Given the description of an element on the screen output the (x, y) to click on. 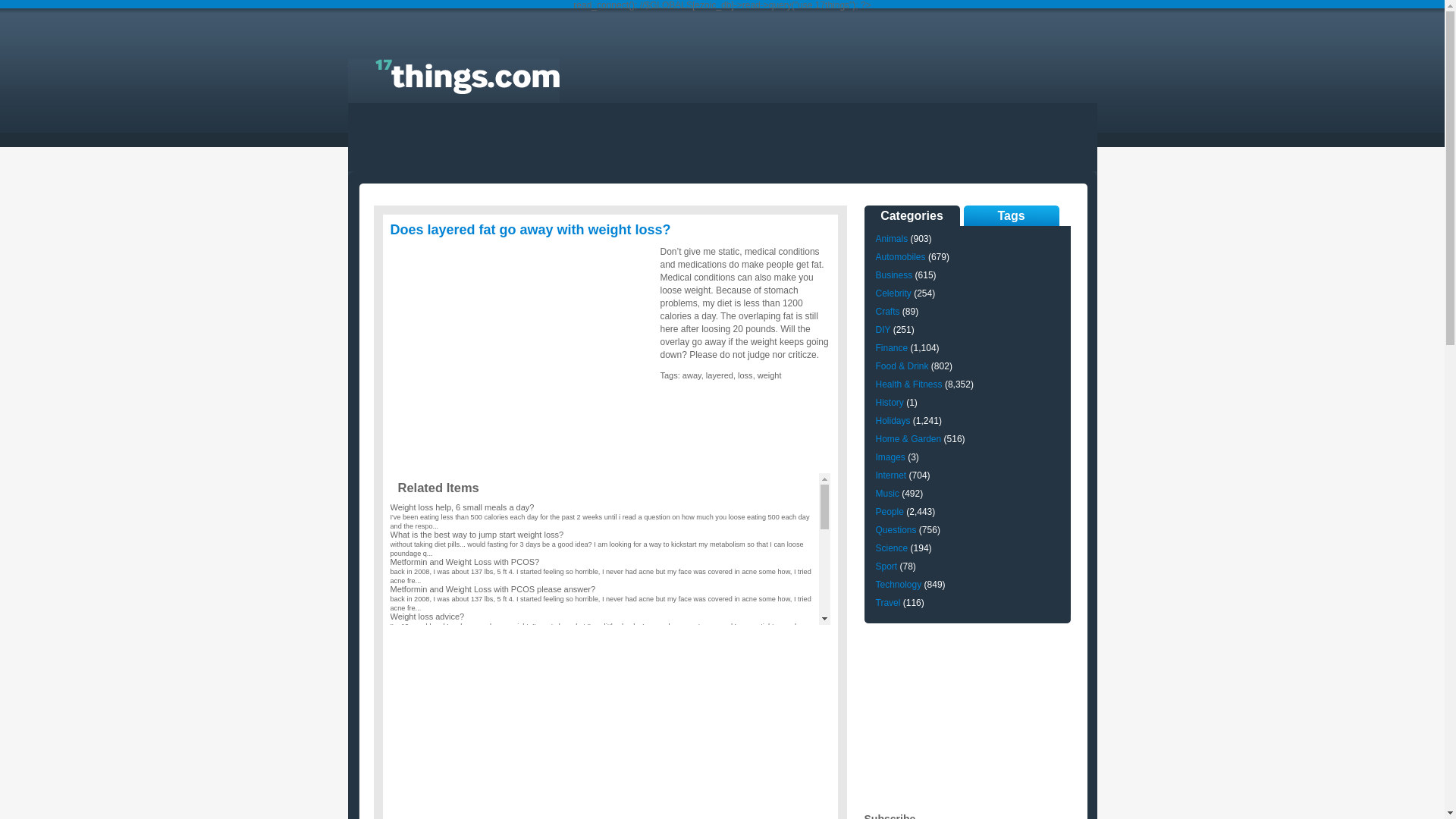
Questions Element type: text (895, 529)
Celebrity Element type: text (892, 293)
Weight loss help, 6 small meals a day? Element type: text (461, 506)
Tags Element type: text (1010, 215)
weight loss summer transformation? Element type: text (456, 725)
Images Element type: text (889, 456)
loss Element type: text (745, 374)
Finance Element type: text (891, 347)
Metformin and Weight Loss with PCOS? Element type: text (464, 561)
Technology Element type: text (898, 584)
Automobiles Element type: text (900, 256)
weight loss summer transformation? Element type: text (456, 697)
Business Element type: text (893, 274)
Home & Garden Element type: text (908, 438)
Metformin and Weight Loss with PCOS please answer? Element type: text (492, 588)
Health & Fitness Element type: text (908, 384)
Holidays Element type: text (892, 420)
weight Element type: text (769, 374)
Sport Element type: text (886, 566)
Music Element type: text (886, 493)
layered Element type: text (719, 374)
weight loss summer transformation? Element type: text (456, 752)
Does layered fat go away with weight loss? Element type: text (529, 229)
What is the best way to jump start weight loss? Element type: text (476, 534)
Science Element type: text (891, 547)
People Element type: text (889, 511)
Internet Element type: text (890, 475)
prevent skin sagging weight loss (adderall)? Element type: text (470, 643)
History Element type: text (889, 402)
diet and weight loss help? Element type: text (437, 807)
Travel Element type: text (887, 602)
Food & Drink Element type: text (901, 365)
DIY Element type: text (882, 329)
Animals Element type: text (891, 238)
weight loss summer transformation? Element type: text (456, 779)
Weight loss advice? Element type: text (426, 616)
Crafts Element type: text (887, 311)
Categories Element type: text (912, 215)
away Element type: text (691, 374)
